Given the description of an element on the screen output the (x, y) to click on. 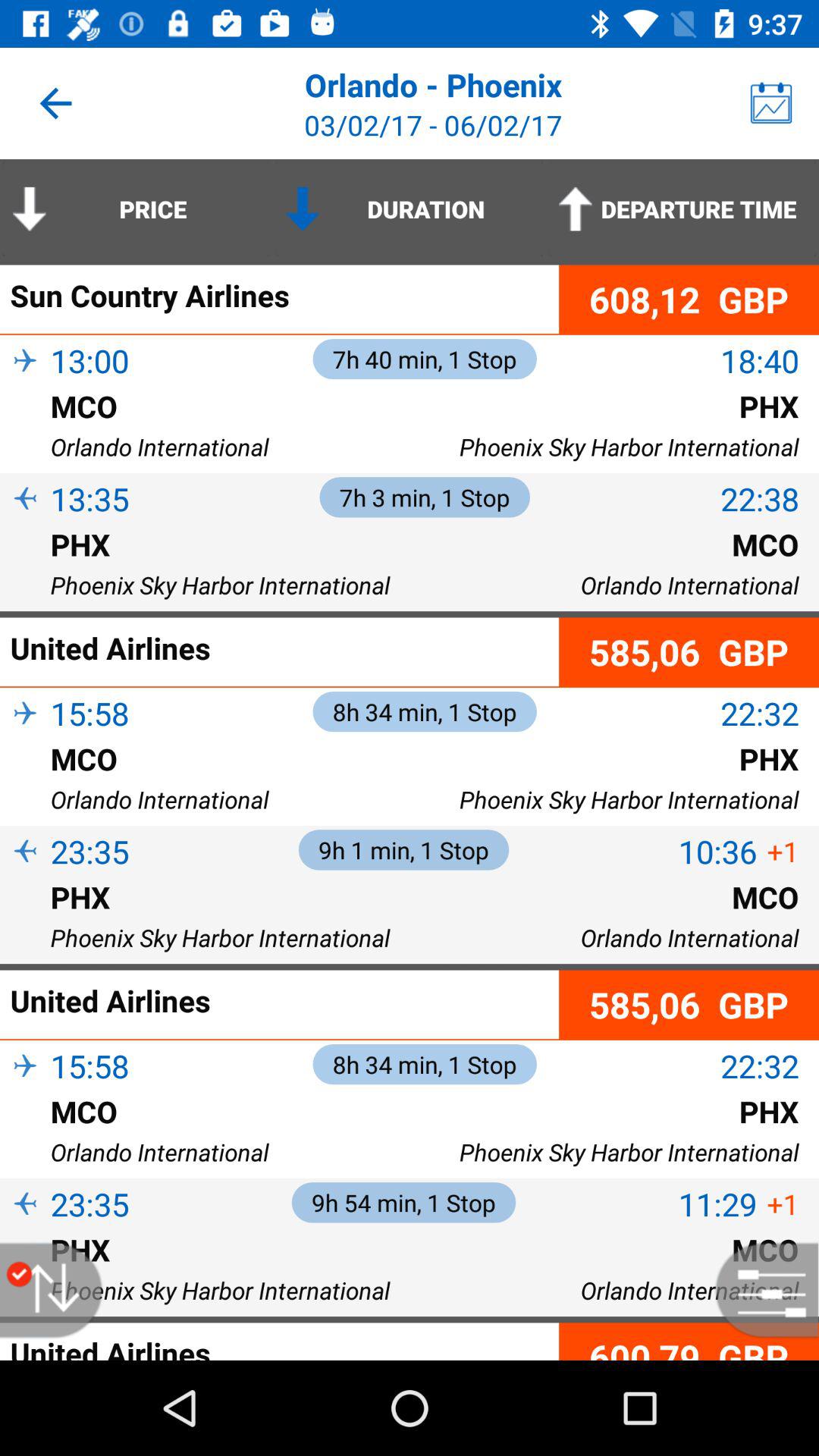
chec flights (759, 1290)
